Given the description of an element on the screen output the (x, y) to click on. 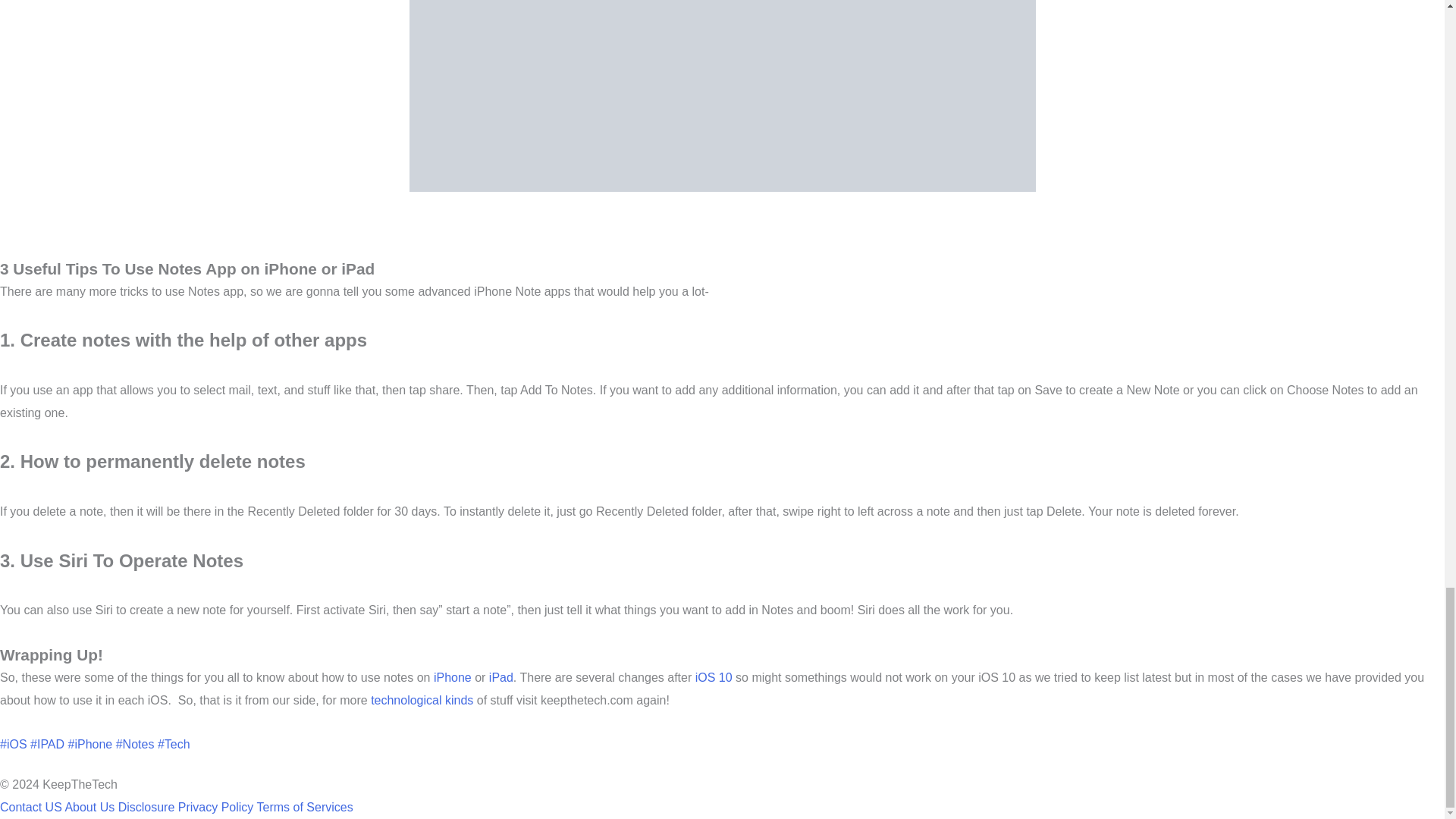
Contact US (31, 807)
Privacy Policy (215, 807)
Terms of Services (305, 807)
Disclosure (145, 807)
Terms of Services (305, 807)
Contact US (31, 807)
About Us (89, 807)
iPhone (449, 676)
Privacy Policy (215, 807)
iPad (498, 676)
About Us (89, 807)
technological kinds (422, 699)
Disclosure (145, 807)
iOS 10 (711, 676)
